Given the description of an element on the screen output the (x, y) to click on. 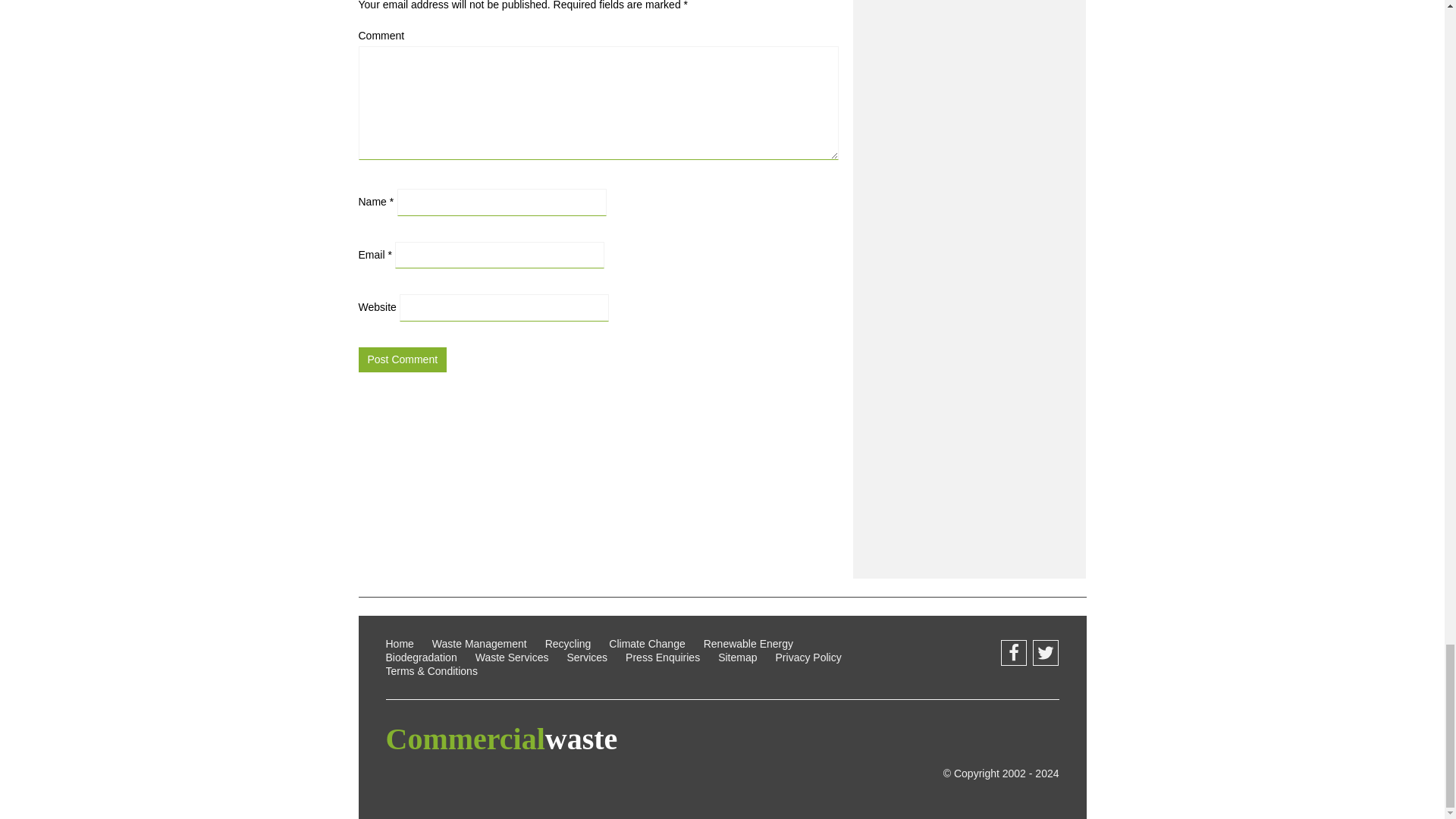
Recycling (567, 644)
Post Comment (402, 360)
Waste Management (479, 644)
Follow us on Facebook (1013, 652)
Climate Change (646, 644)
Renewable Energy (748, 644)
Home (399, 644)
Follow us on Twitter (1045, 652)
Post Comment (402, 360)
